Given the description of an element on the screen output the (x, y) to click on. 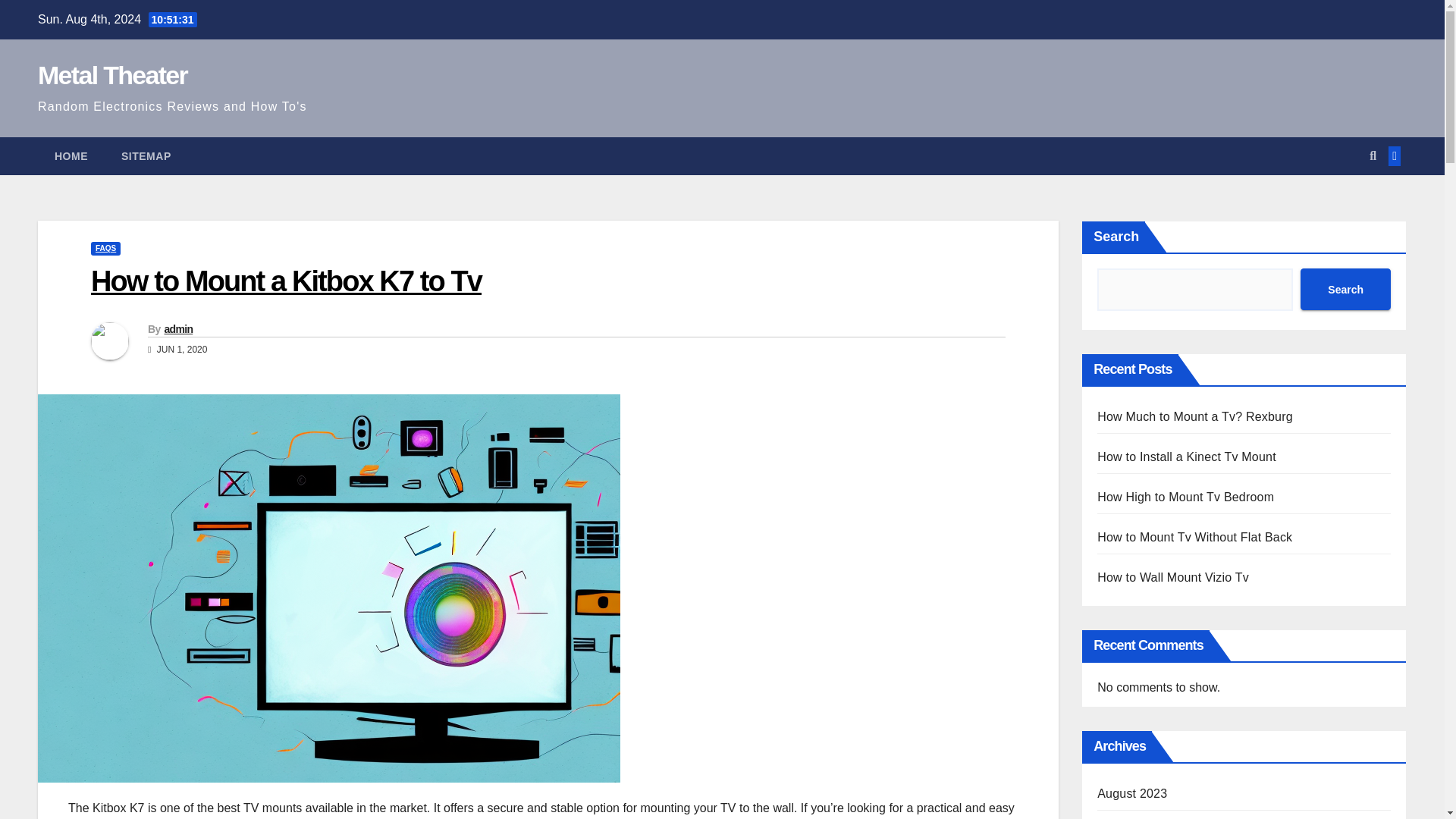
Permalink to: How to Mount a Kitbox K7 to Tv (285, 281)
SITEMAP (145, 156)
Home (70, 156)
FAQS (105, 248)
How to Mount a Kitbox K7 to Tv (285, 281)
HOME (70, 156)
admin (177, 328)
Metal Theater (112, 74)
